Given the description of an element on the screen output the (x, y) to click on. 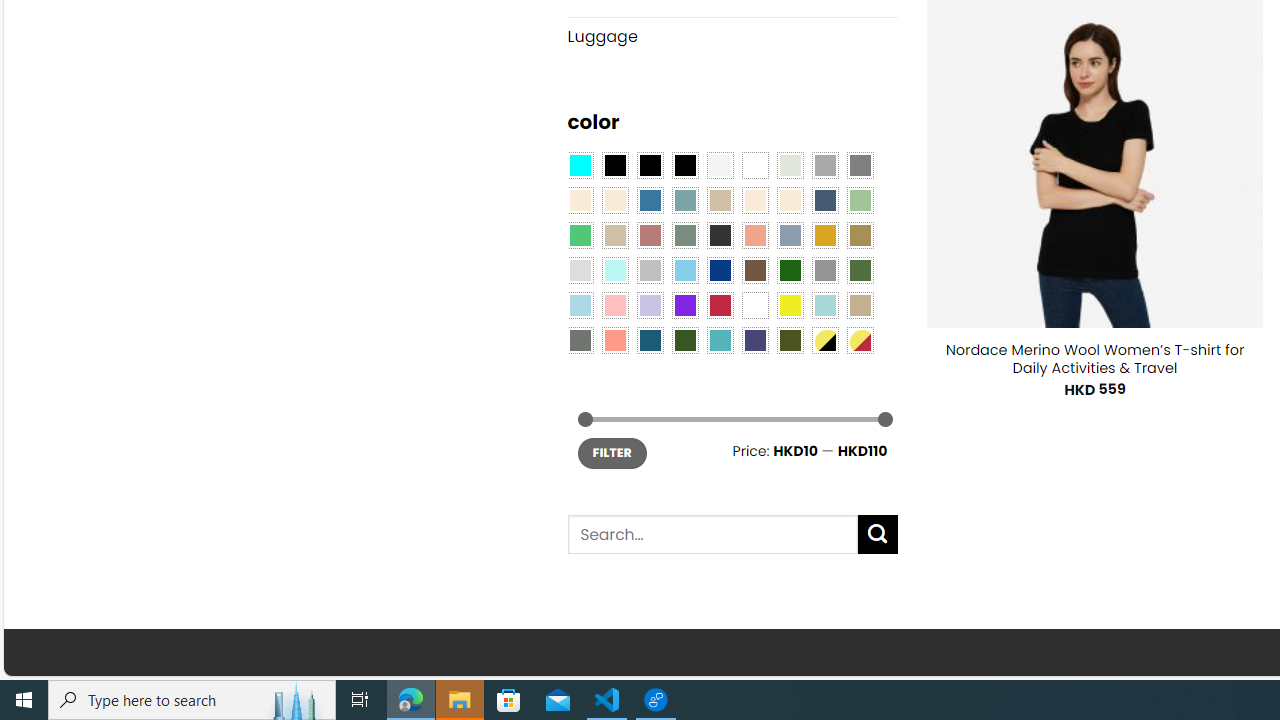
Army Green (789, 339)
Aqua Blue (579, 164)
Black-Brown (684, 164)
Pink (614, 305)
Light Gray (579, 269)
Sky Blue (684, 269)
Sage (684, 234)
Blue (650, 200)
Mint (614, 269)
Search for: (712, 533)
White (755, 305)
Khaki (859, 305)
Purple Navy (755, 339)
Dusty Blue (789, 234)
